Given the description of an element on the screen output the (x, y) to click on. 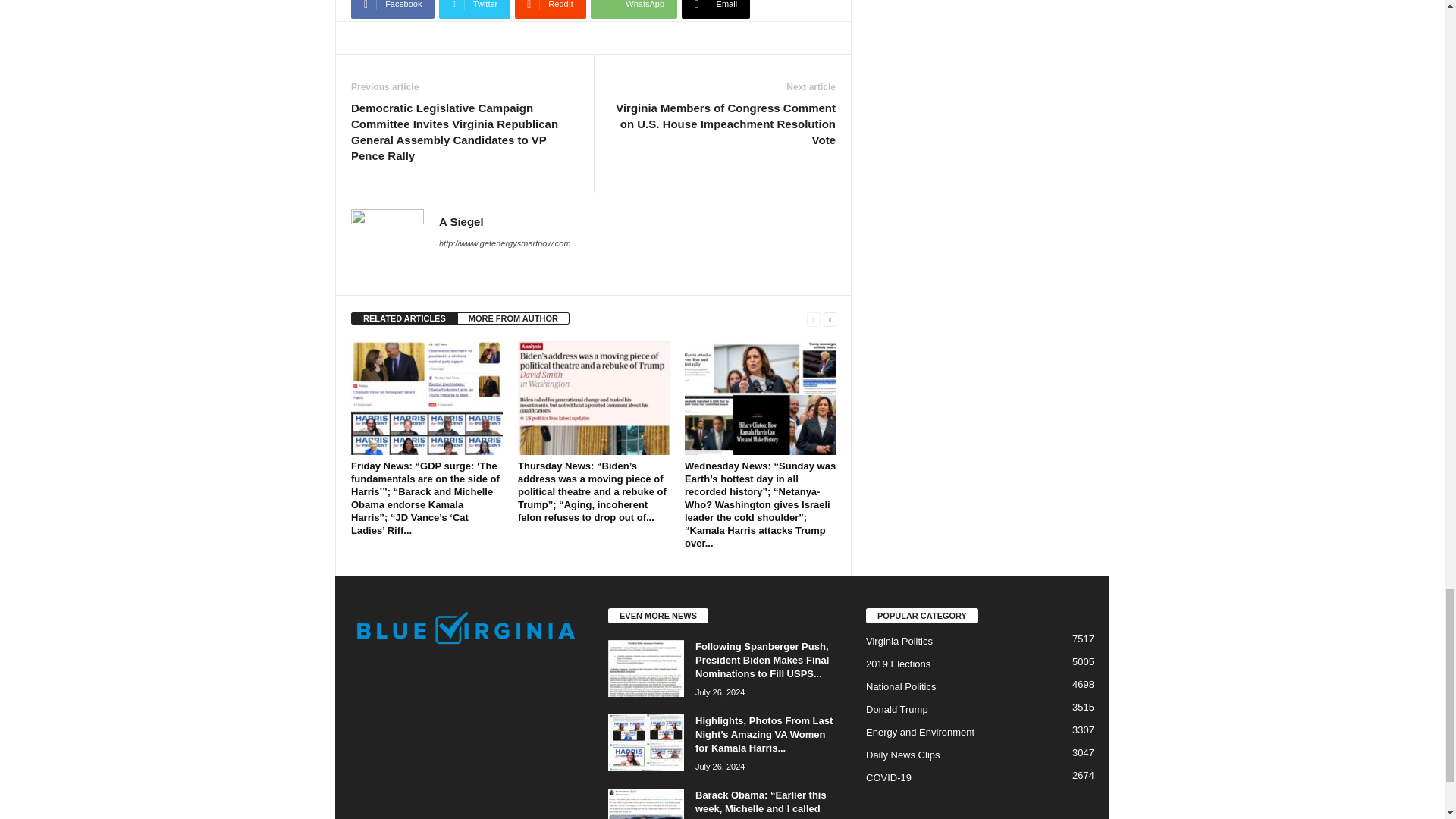
Email (715, 9)
Twitter (475, 9)
WhatsApp (634, 9)
ReddIt (550, 9)
Facebook (391, 9)
